Given the description of an element on the screen output the (x, y) to click on. 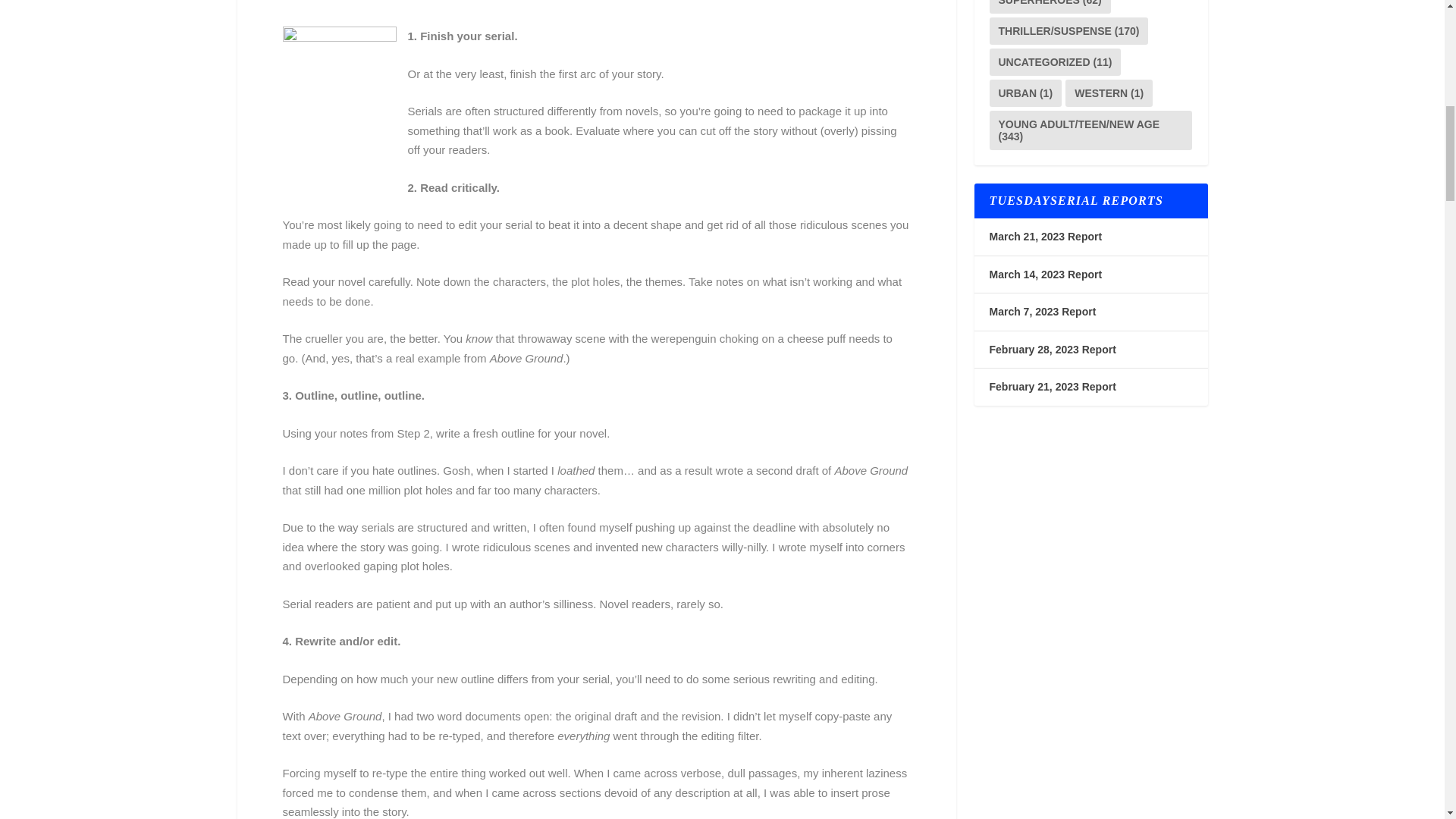
cover150 (339, 117)
